Given the description of an element on the screen output the (x, y) to click on. 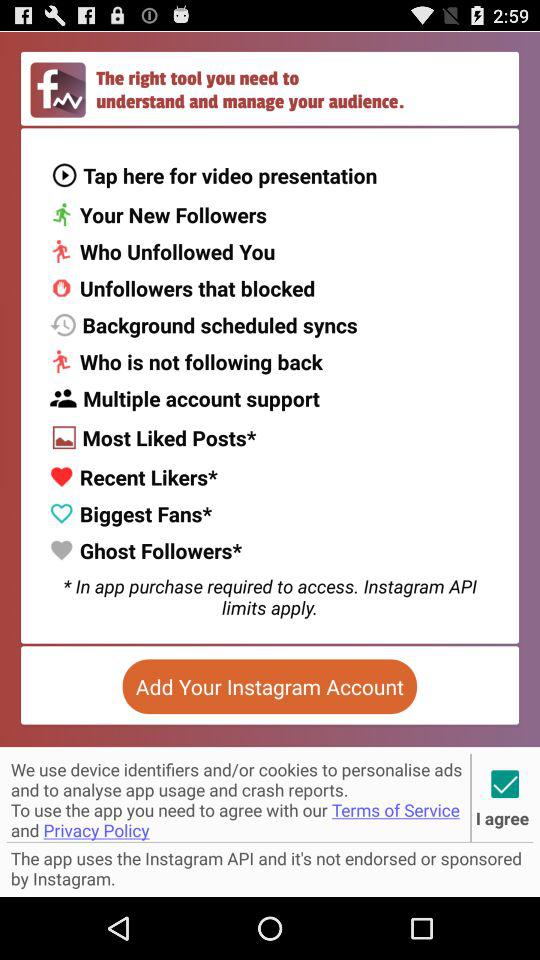
swipe until add your instagram icon (269, 686)
